Given the description of an element on the screen output the (x, y) to click on. 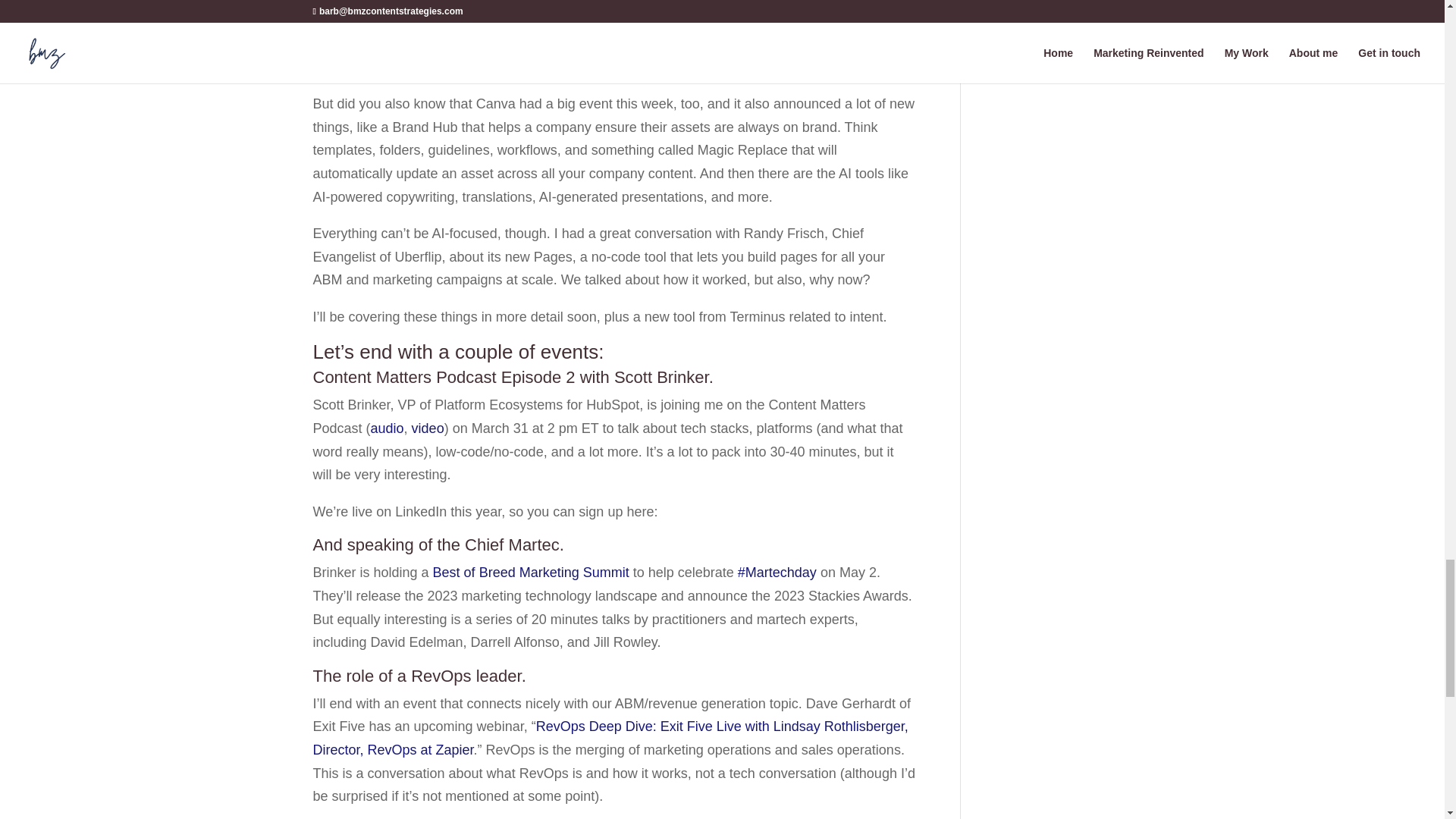
audio (387, 427)
overview you can read here (396, 2)
video (428, 427)
Best of Breed Marketing Summit (530, 572)
